Given the description of an element on the screen output the (x, y) to click on. 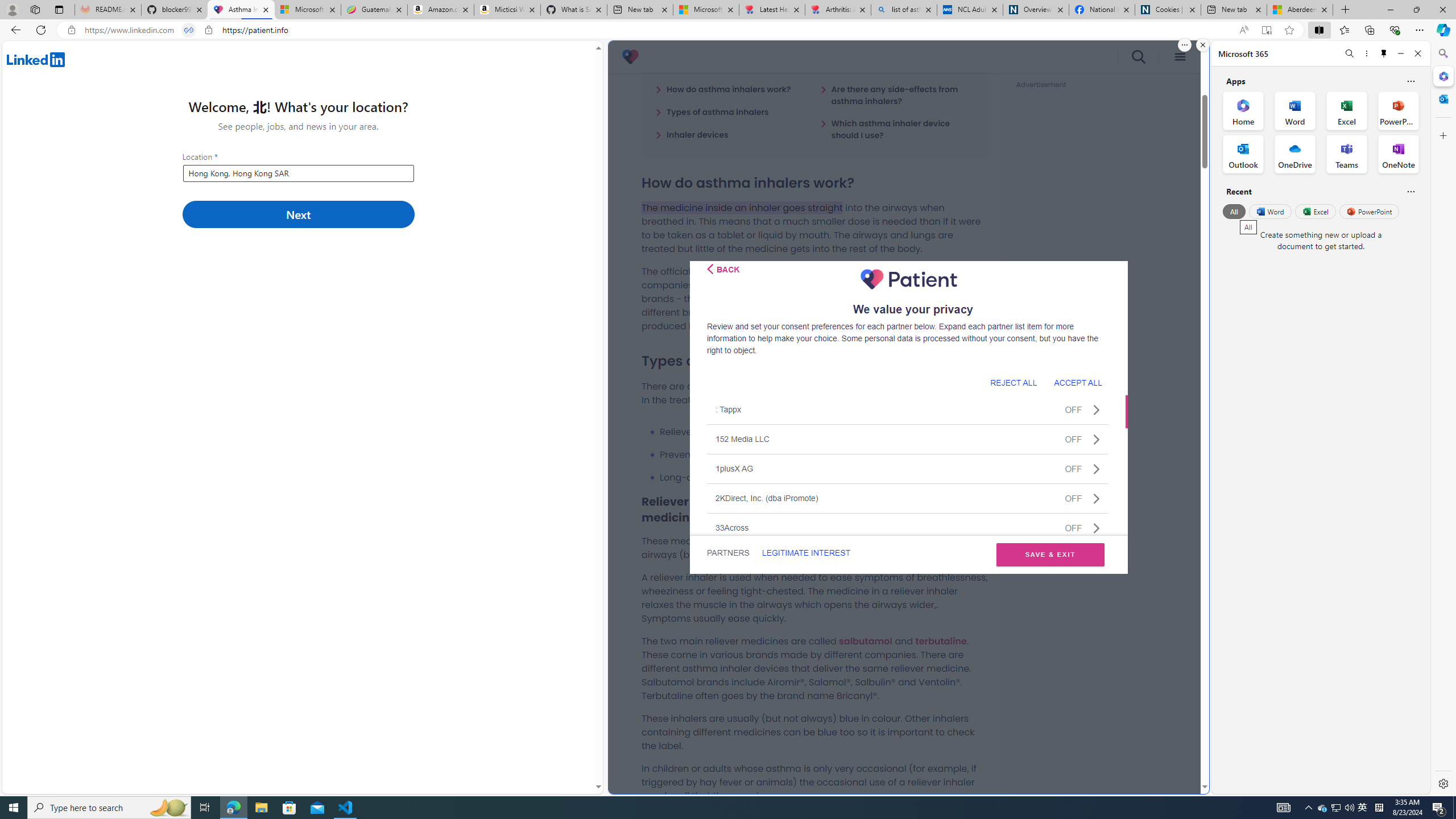
152 Media LLCOFF (907, 438)
Enter Immersive Reader (F9) (1266, 29)
Teams Office App (1346, 154)
Publisher Logo (908, 278)
Asthma Inhalers: Names and Types (240, 9)
PARTNERS (728, 552)
How do asthma inhalers work? (722, 88)
SAVE & EXIT (1050, 554)
